Given the description of an element on the screen output the (x, y) to click on. 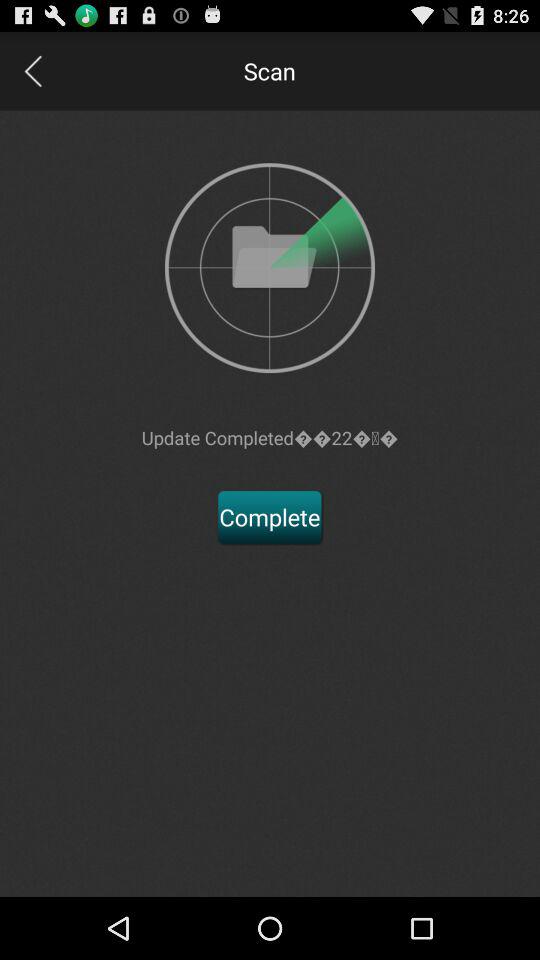
back button (32, 70)
